Given the description of an element on the screen output the (x, y) to click on. 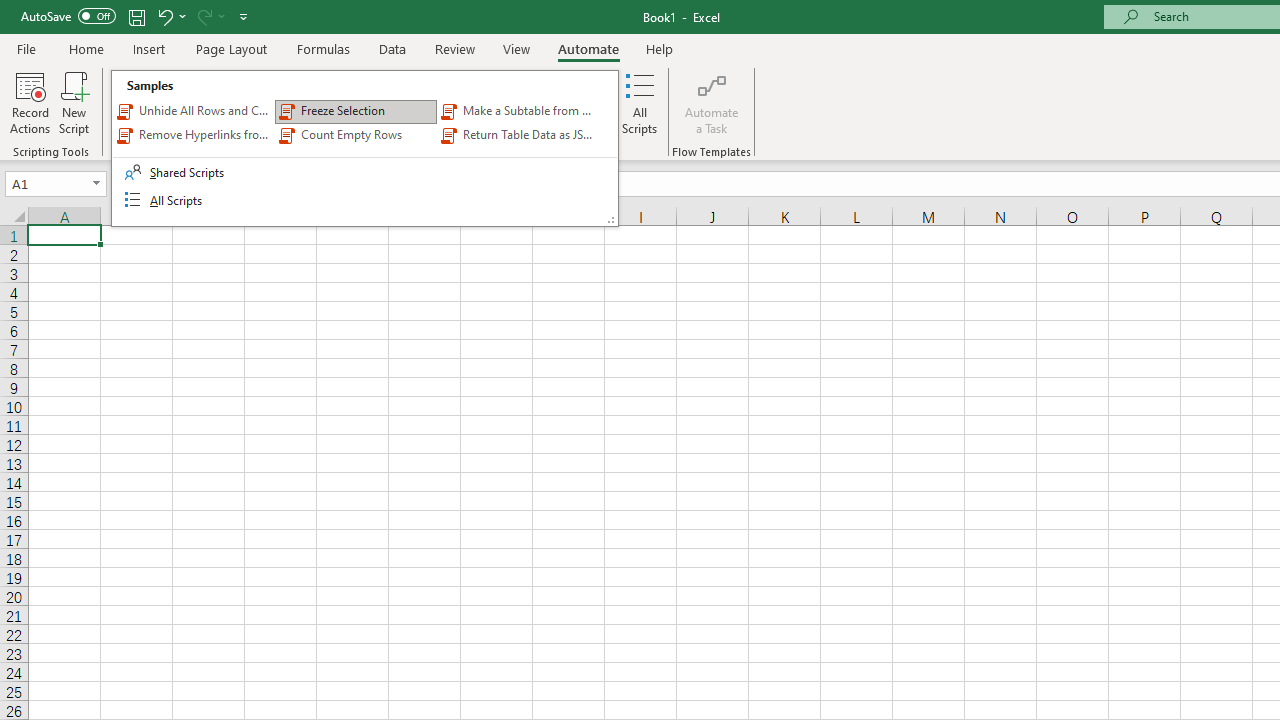
More Options (222, 15)
All Scripts (639, 102)
Undo (164, 15)
Home (86, 48)
Review (454, 48)
Class: Net UI Tool Window (365, 147)
Name Box (46, 183)
Name Box (56, 183)
Help (660, 48)
Automate (588, 48)
Record Actions (29, 102)
Open (96, 183)
Redo (209, 15)
View (517, 48)
